Given the description of an element on the screen output the (x, y) to click on. 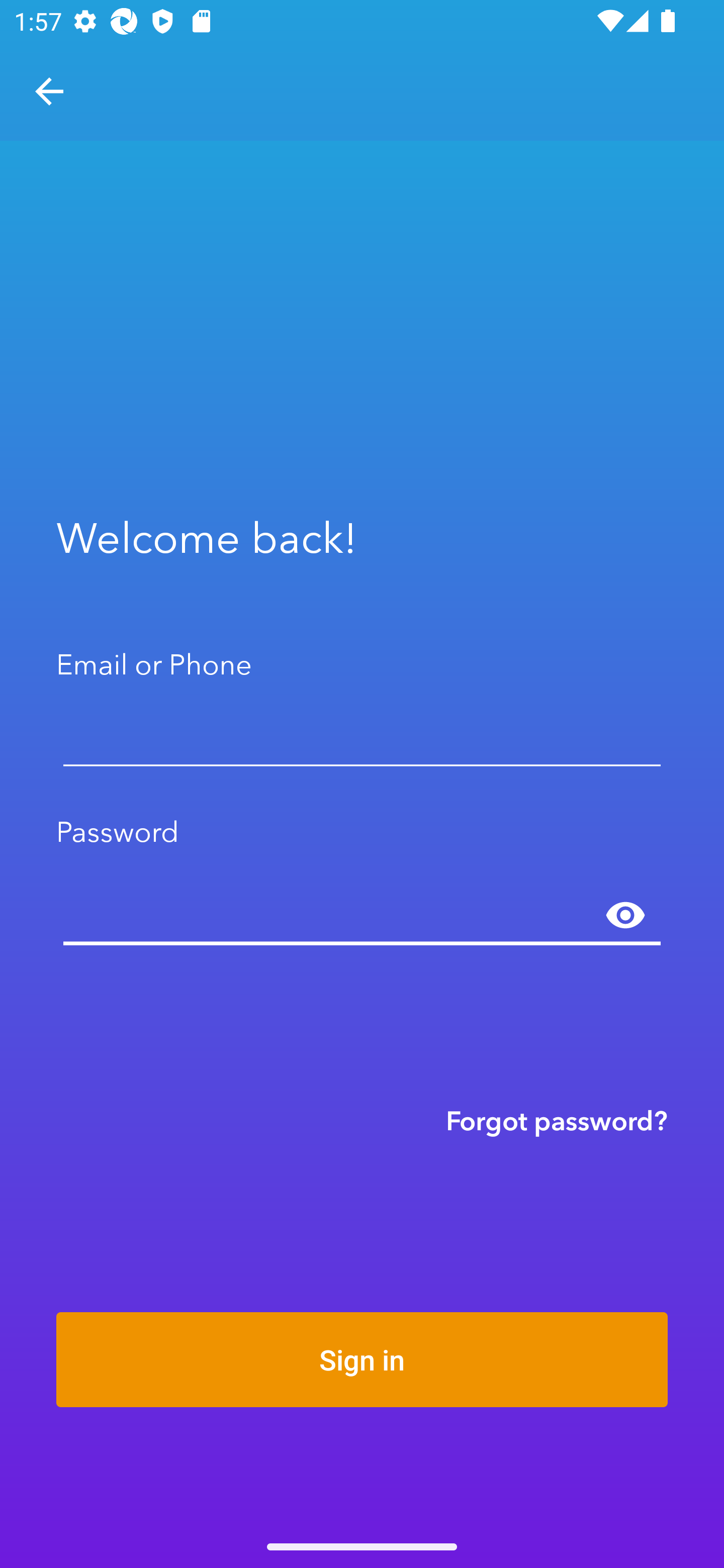
Navigate up (49, 91)
Show password (625, 915)
Forgot password? (556, 1119)
Sign in (361, 1359)
